Given the description of an element on the screen output the (x, y) to click on. 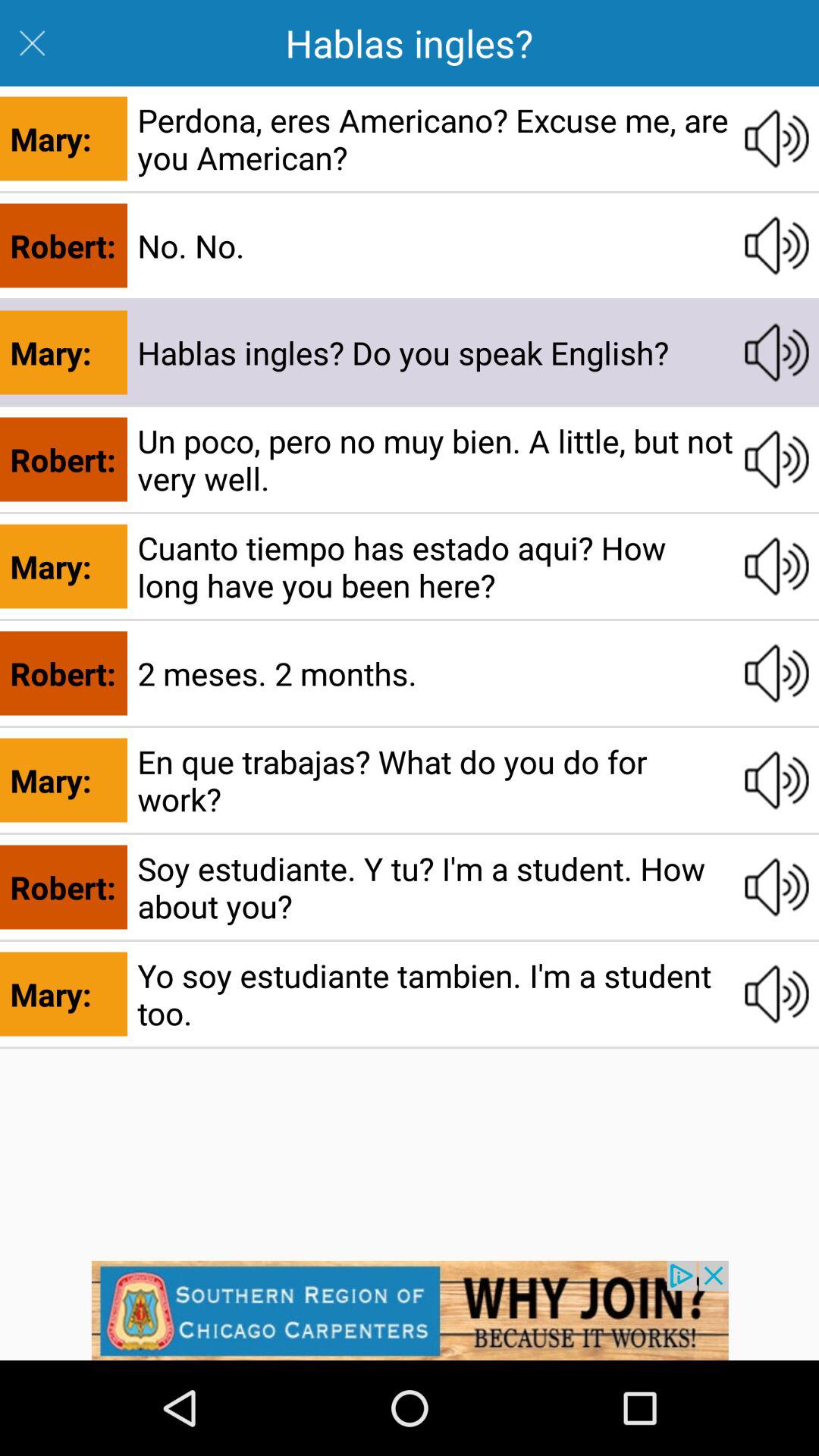
play corresponding message (776, 887)
